Given the description of an element on the screen output the (x, y) to click on. 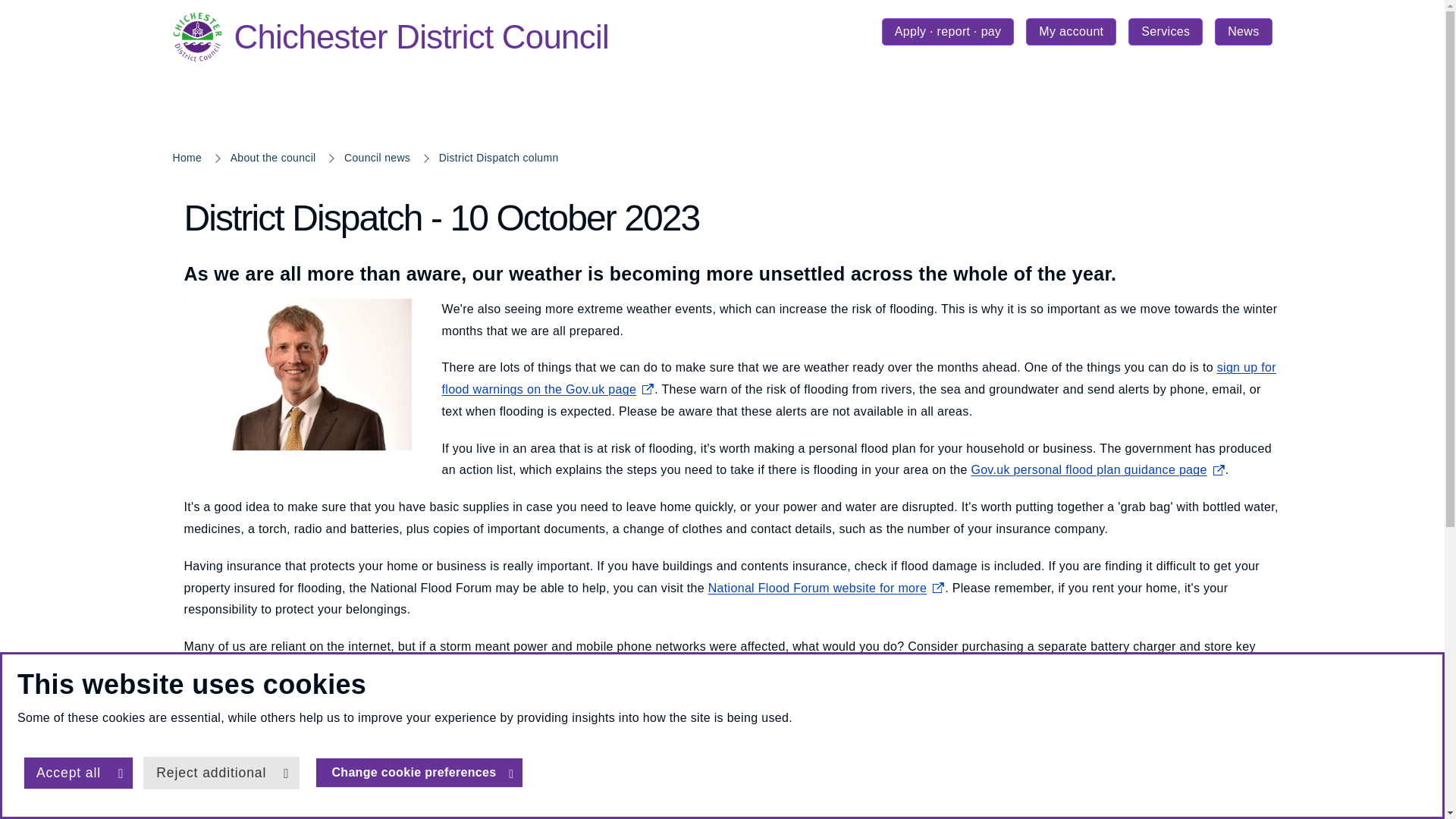
My account (1071, 31)
Skip to main content (11, 11)
Council news (376, 157)
Change cookie preferences (418, 772)
Services (1165, 31)
Accept all (78, 772)
Home (187, 157)
About the council (272, 157)
Reject additional (220, 772)
News (1242, 31)
01243 534 860 (420, 37)
District Dispatch column (798, 748)
our Supporting You pages (499, 157)
